Given the description of an element on the screen output the (x, y) to click on. 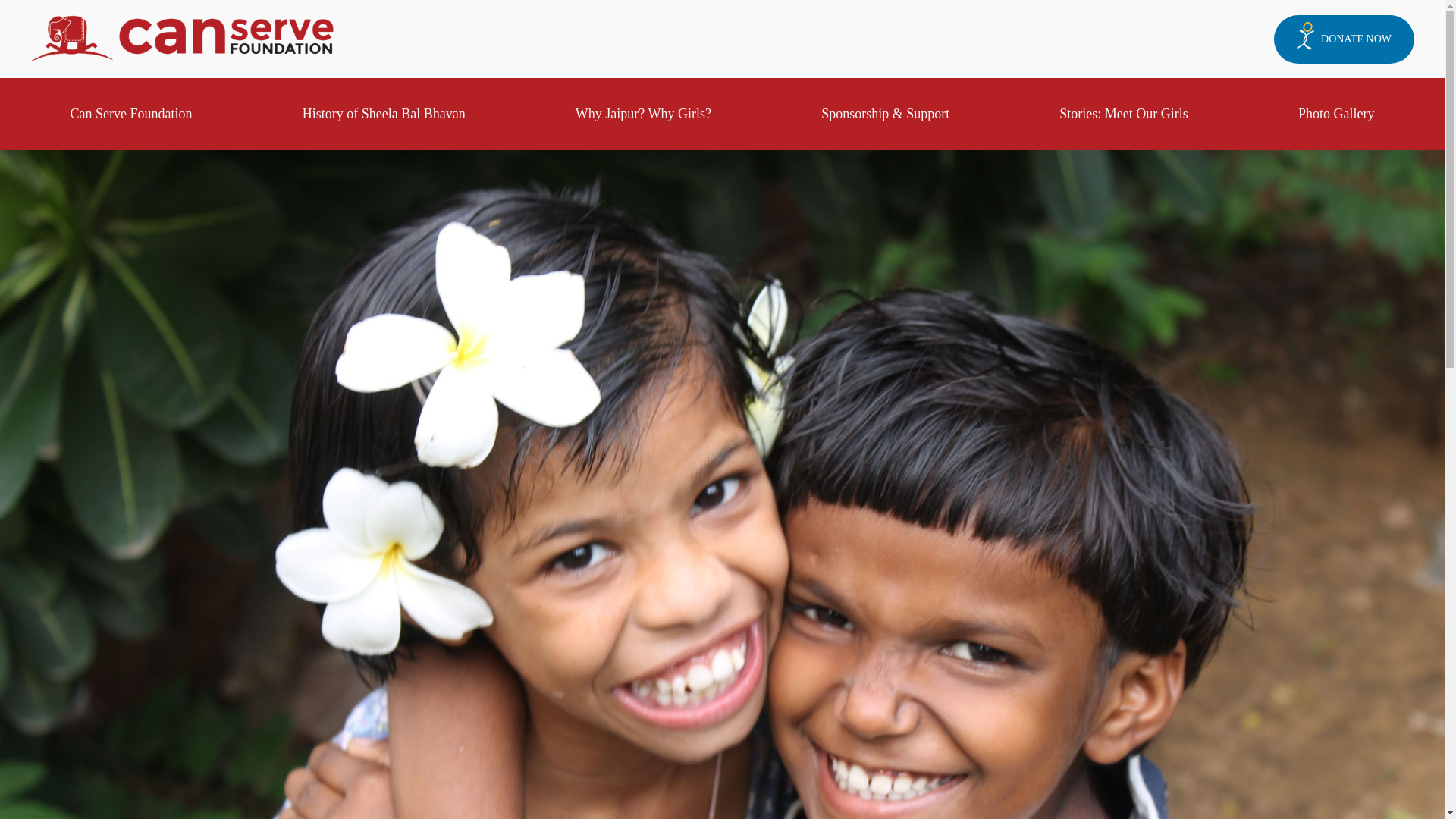
History of Sheela Bal Bhavan (383, 113)
Can Serve Foundation (130, 113)
Why Jaipur? Why Girls? (643, 113)
Photo Gallery (1336, 113)
DONATE NOW (1343, 39)
Stories: Meet Our Girls (1123, 113)
